Given the description of an element on the screen output the (x, y) to click on. 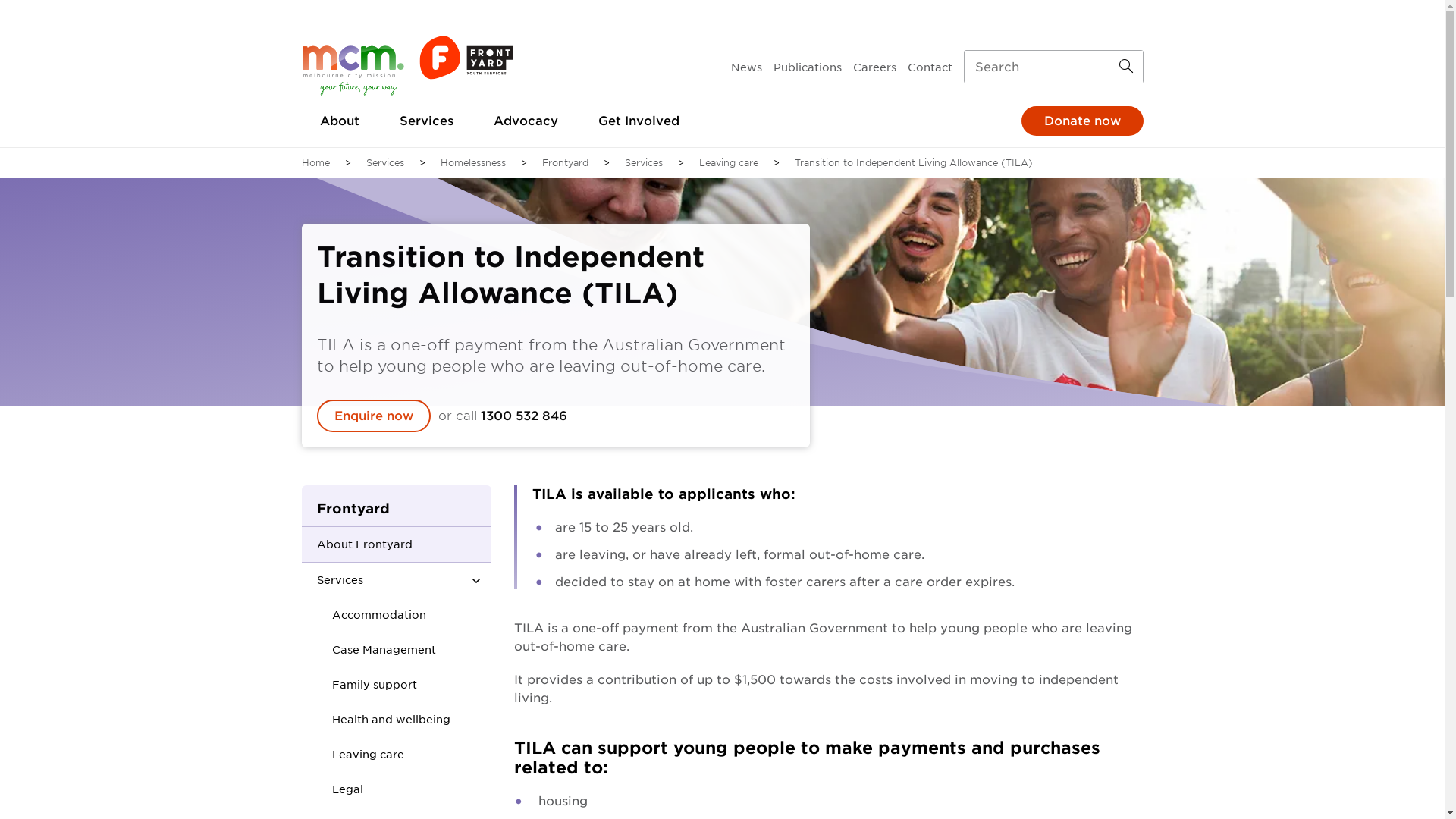
Services Element type: text (377, 579)
Homelessness Element type: text (472, 162)
Publications Element type: text (807, 66)
Family support Element type: text (368, 684)
Case Management Element type: text (378, 649)
Careers Element type: text (873, 66)
Donate now Element type: text (1081, 120)
Advocacy Element type: text (524, 120)
Frontyard Element type: text (564, 162)
Health and wellbeing Element type: text (385, 719)
Legal Element type: text (341, 788)
Leaving care Element type: text (728, 162)
Accommodation Element type: text (373, 614)
Enquire now Element type: text (373, 415)
Leaving care Element type: text (362, 754)
Frontyard Element type: text (396, 506)
About Frontyard Element type: text (377, 544)
Services Element type: text (425, 120)
About Element type: text (339, 120)
Home Element type: text (315, 162)
Services Element type: text (384, 162)
Contact Element type: text (928, 66)
Services Element type: text (643, 162)
1300 532 846 Element type: text (523, 415)
News Element type: text (746, 66)
Get Involved Element type: text (637, 120)
